Given the description of an element on the screen output the (x, y) to click on. 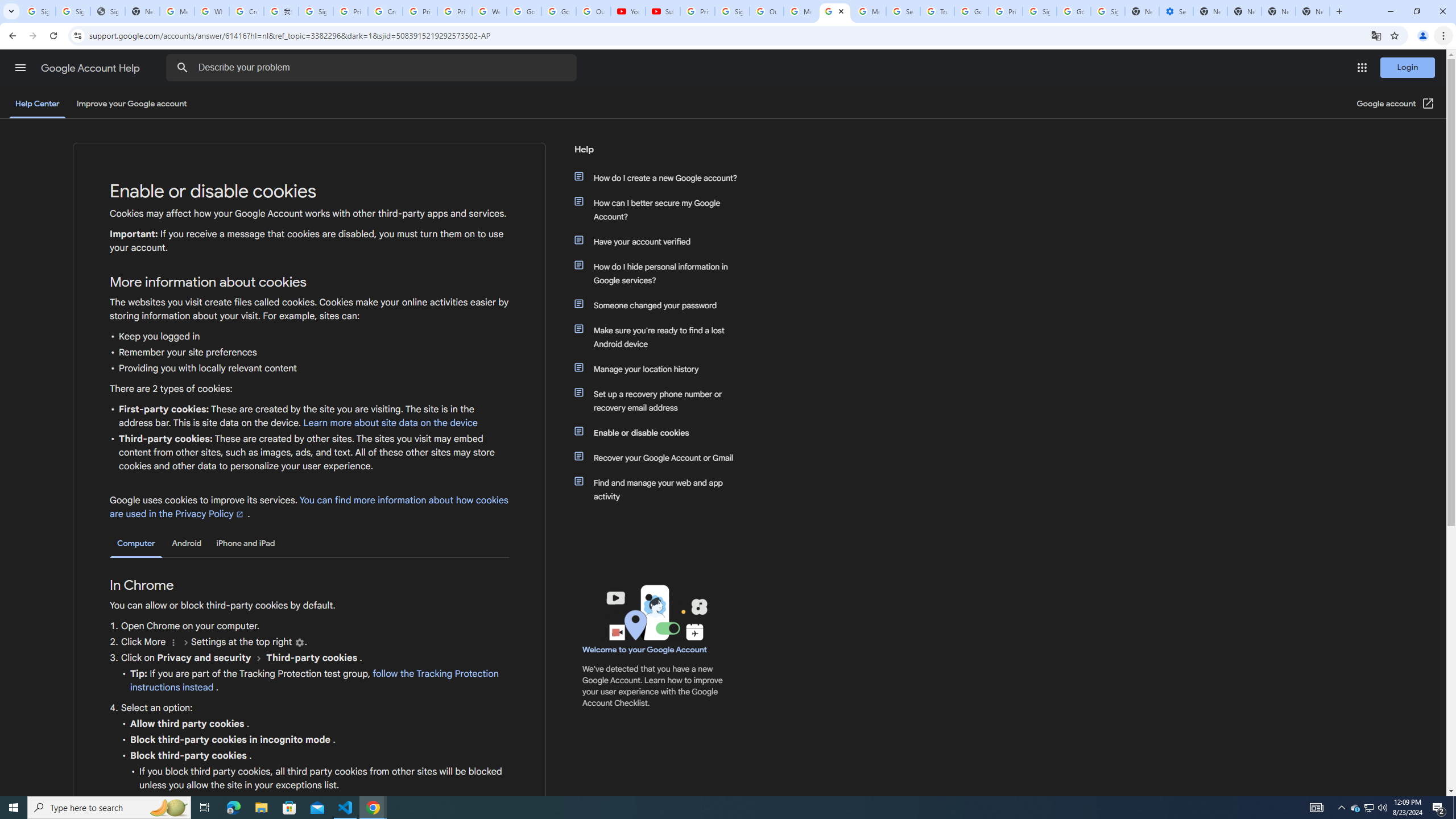
Learn more about site data on the device (390, 423)
Translate this page (1376, 35)
follow the Tracking Protection instructions instead (314, 680)
Find and manage your web and app activity (661, 489)
